Given the description of an element on the screen output the (x, y) to click on. 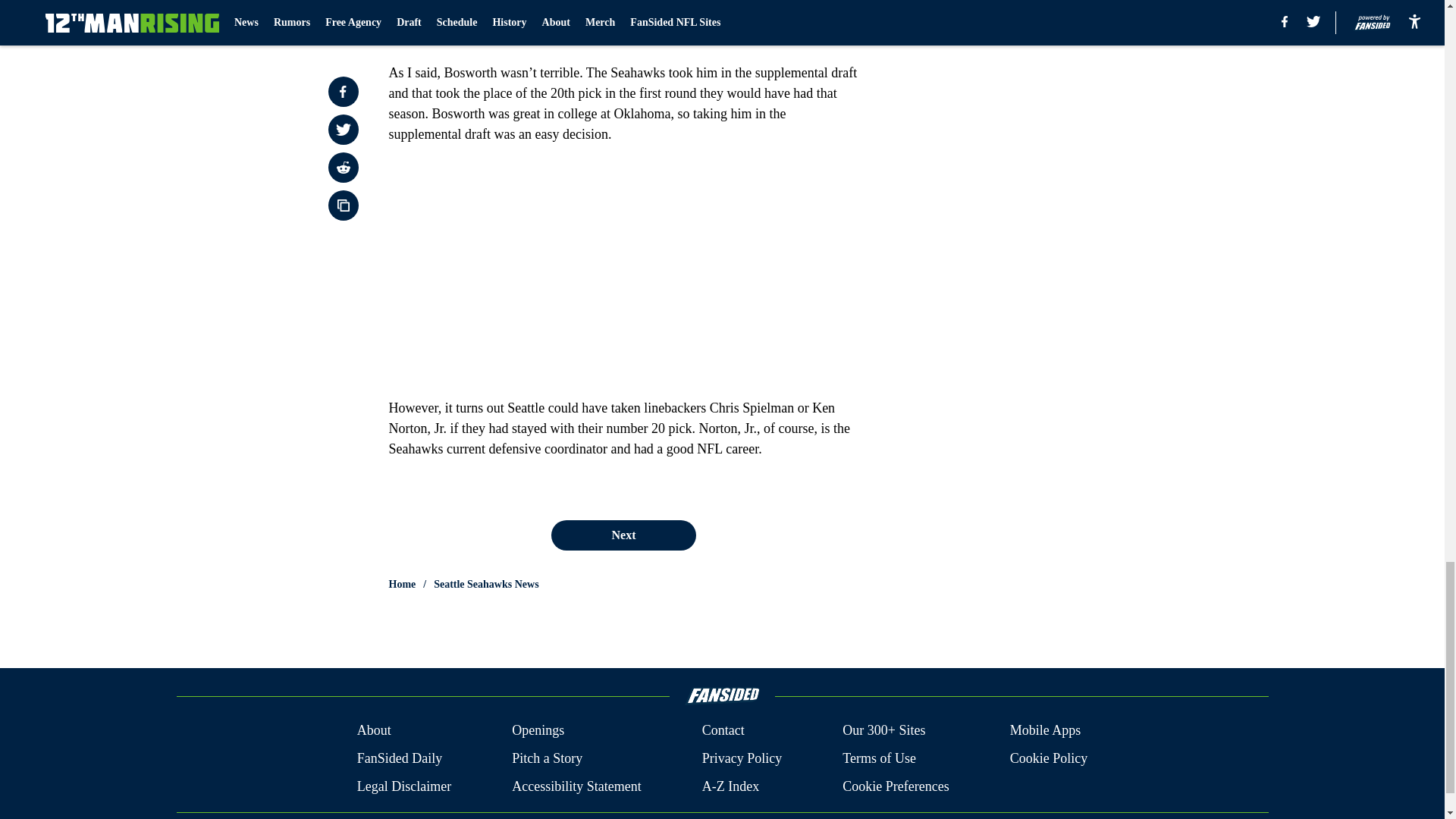
Privacy Policy (742, 758)
Home (401, 584)
Next (622, 535)
Contact (722, 730)
Mobile Apps (1045, 730)
FanSided Daily (399, 758)
Seattle Seahawks News (485, 584)
About (373, 730)
Pitch a Story (547, 758)
Openings (538, 730)
